Given the description of an element on the screen output the (x, y) to click on. 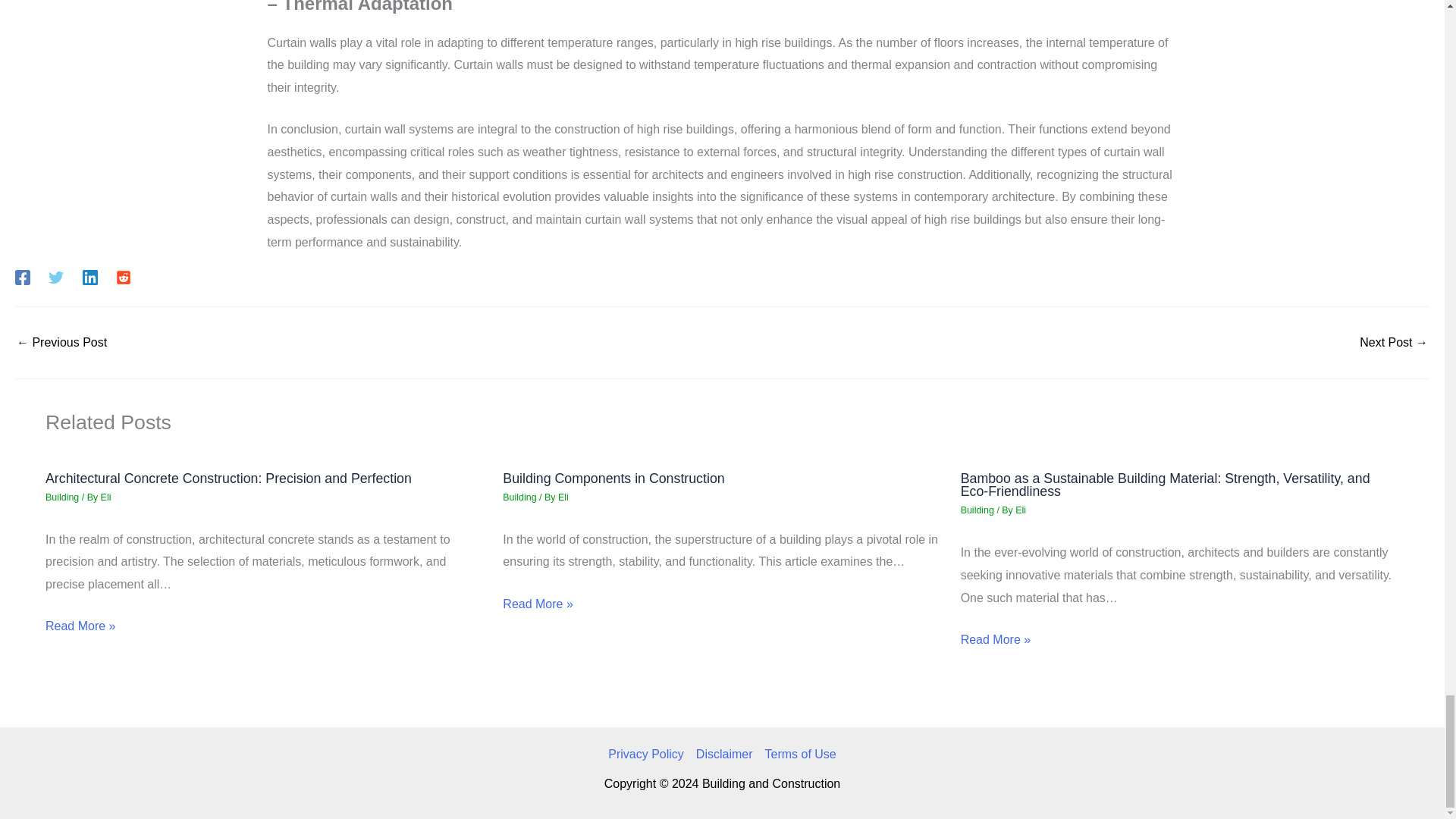
View all posts by Eli (563, 497)
View all posts by Eli (1020, 510)
View all posts by Eli (106, 497)
